Given the description of an element on the screen output the (x, y) to click on. 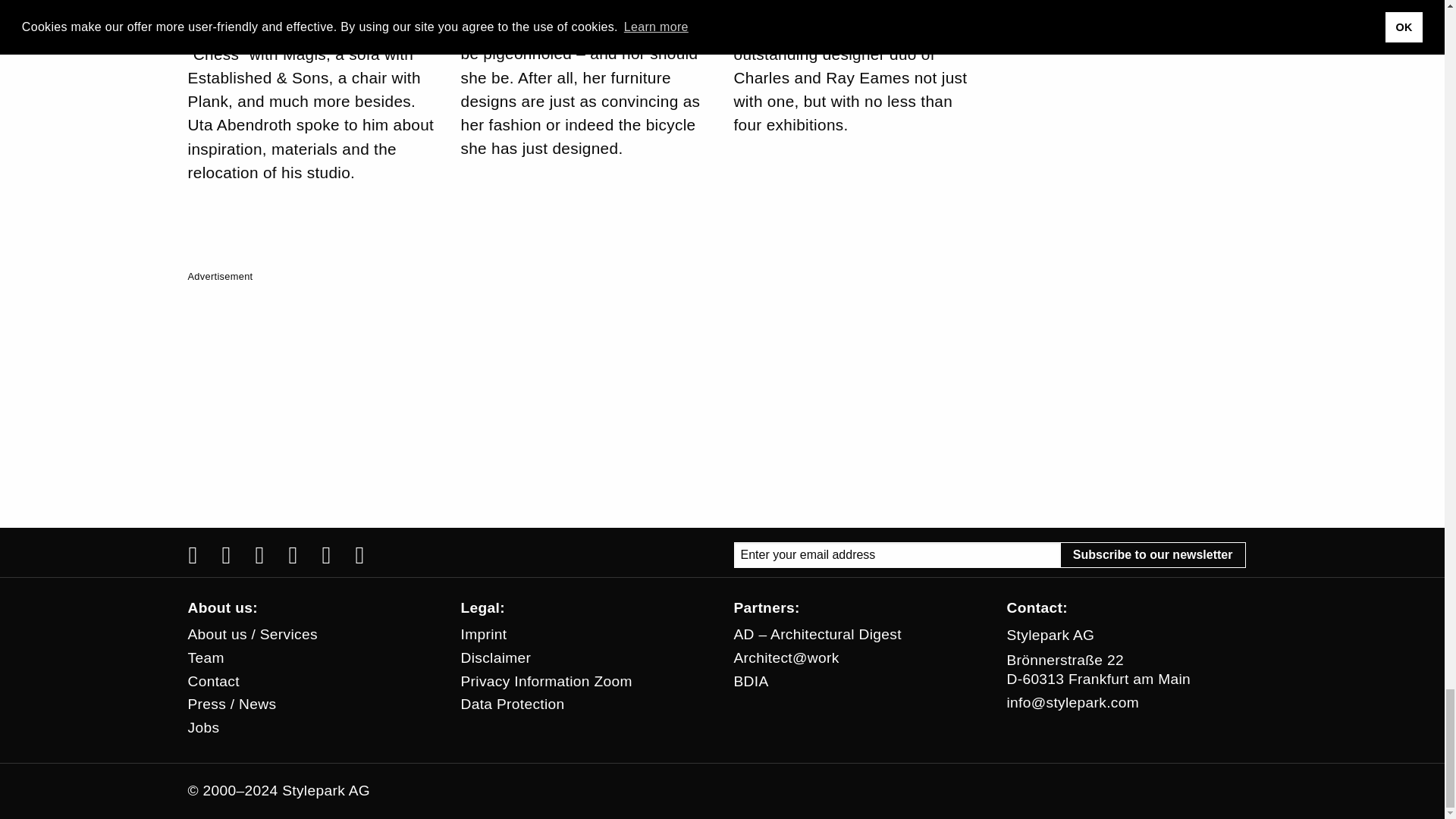
Subscribe to our newsletter (1152, 555)
